Given the description of an element on the screen output the (x, y) to click on. 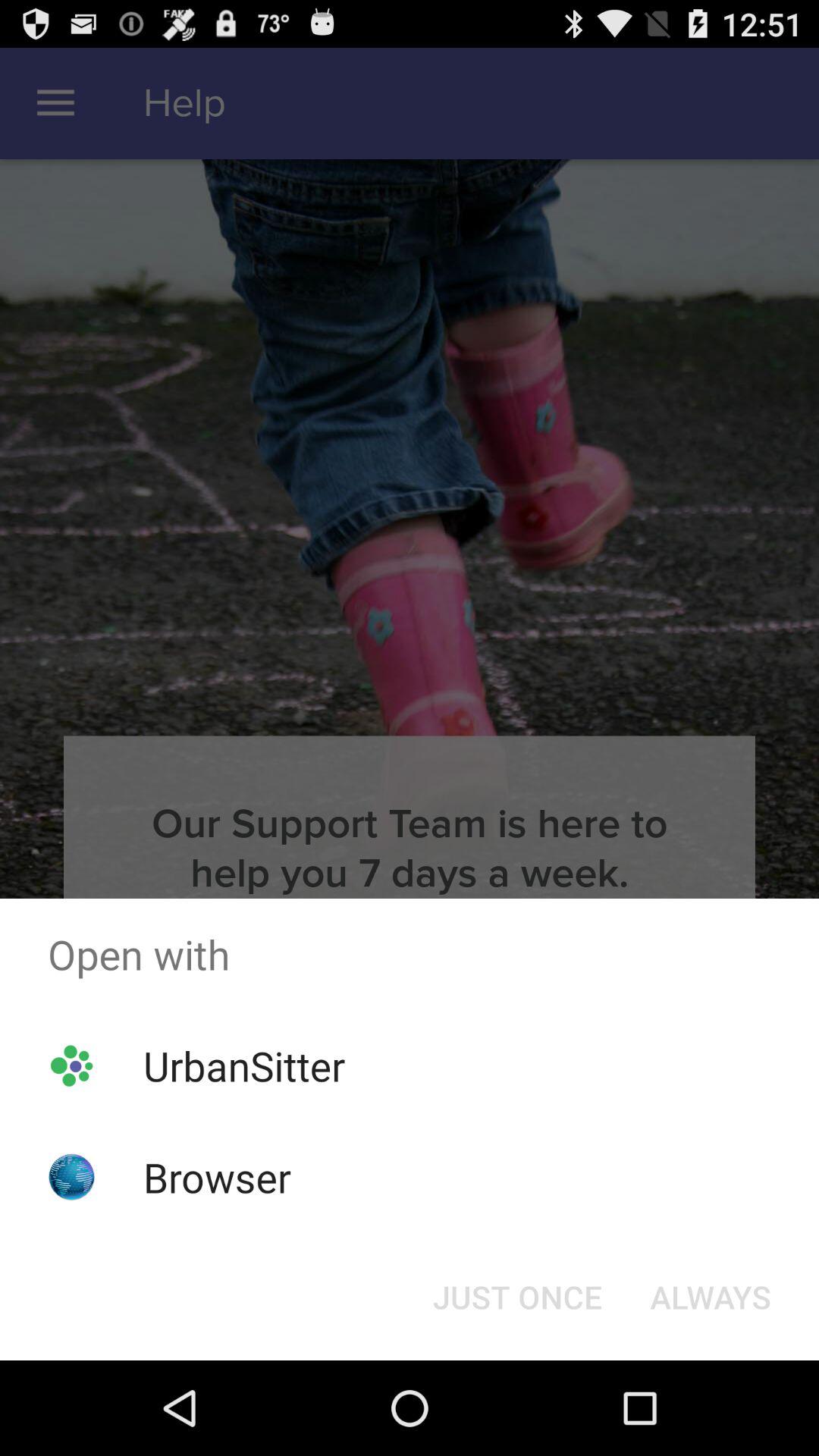
press icon to the left of always icon (517, 1296)
